Given the description of an element on the screen output the (x, y) to click on. 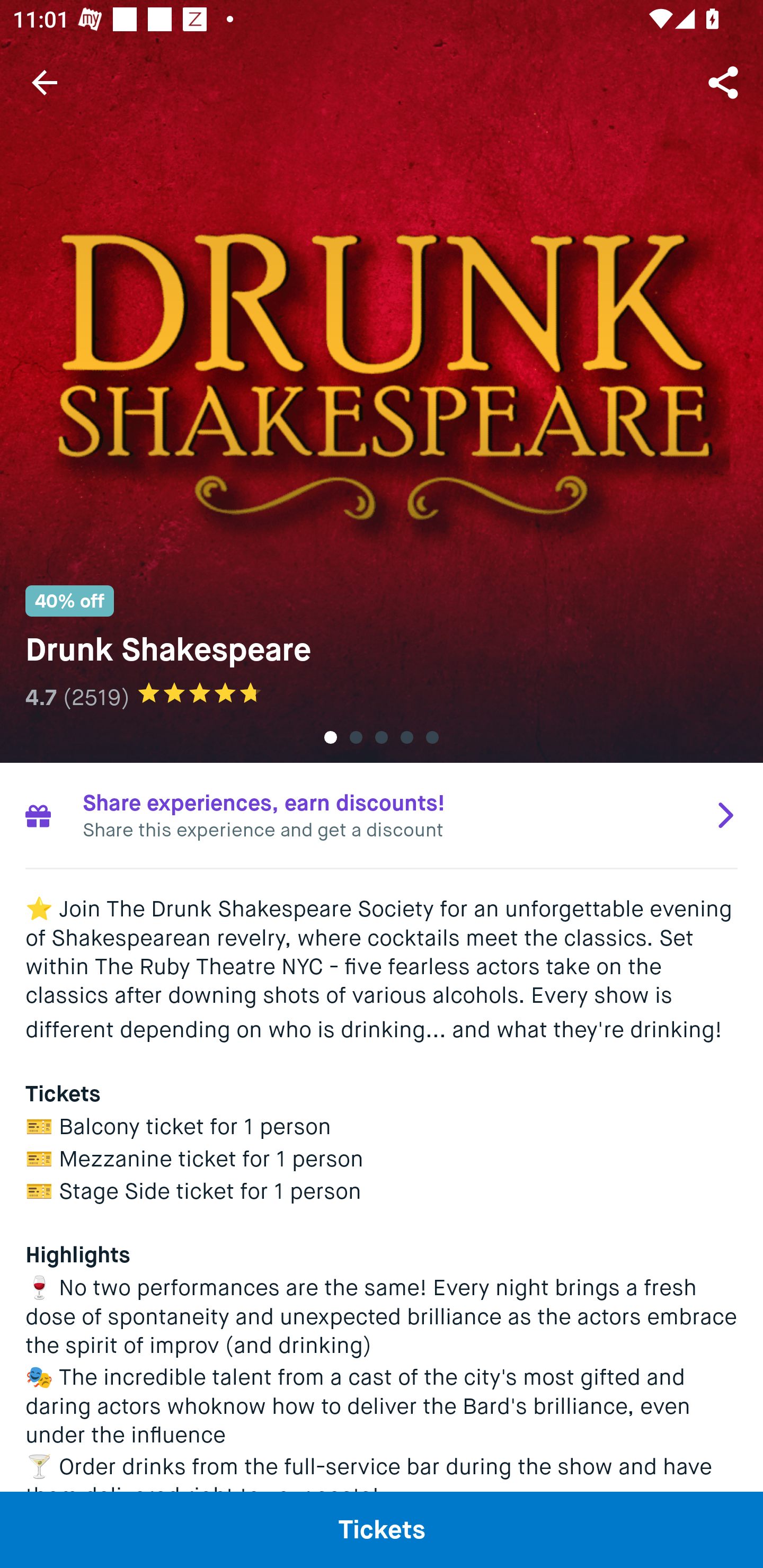
Navigate up (44, 82)
Share (724, 81)
(2519) (96, 697)
Tickets (381, 1529)
